Given the description of an element on the screen output the (x, y) to click on. 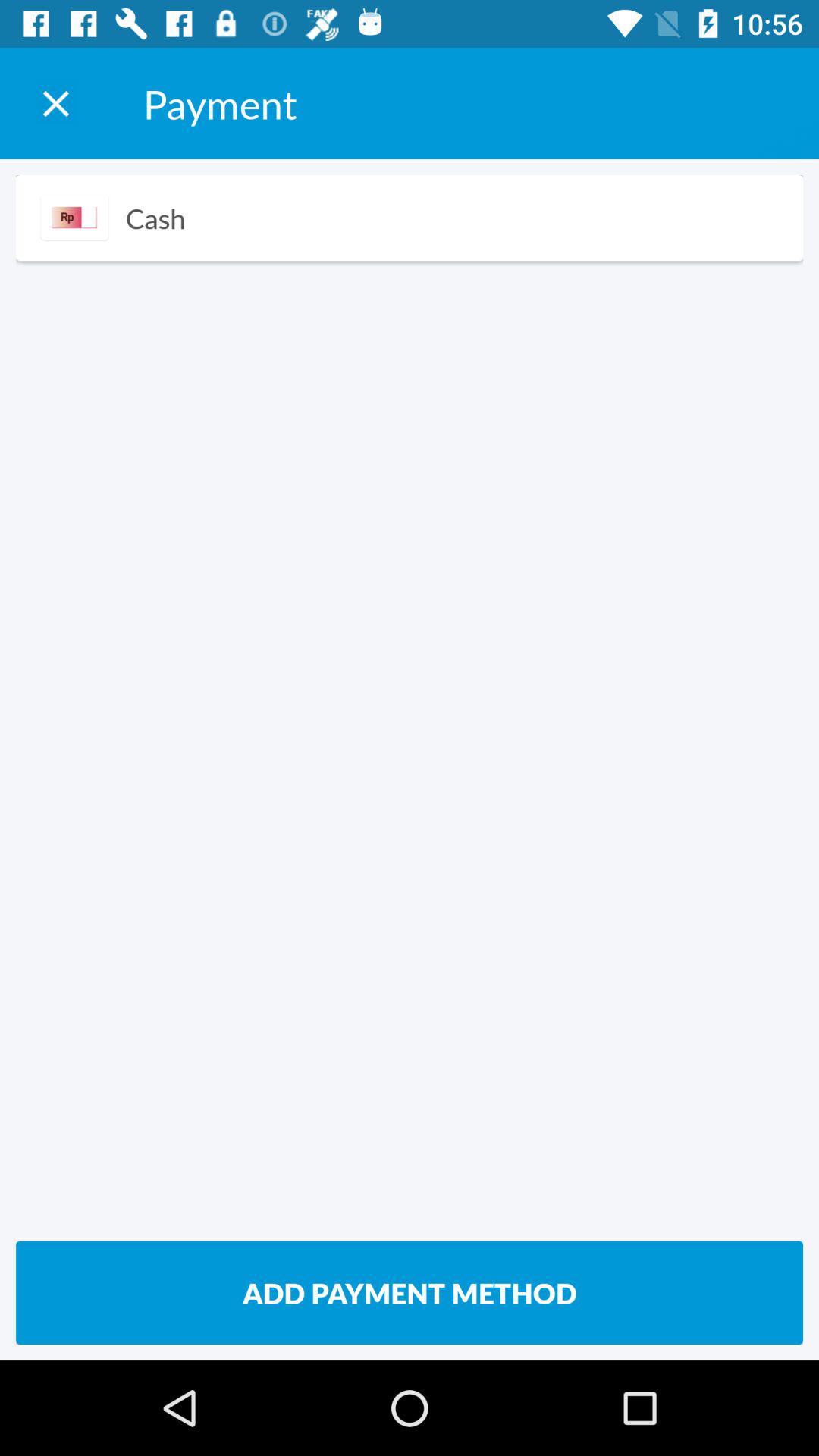
open the icon below payment item (155, 218)
